Given the description of an element on the screen output the (x, y) to click on. 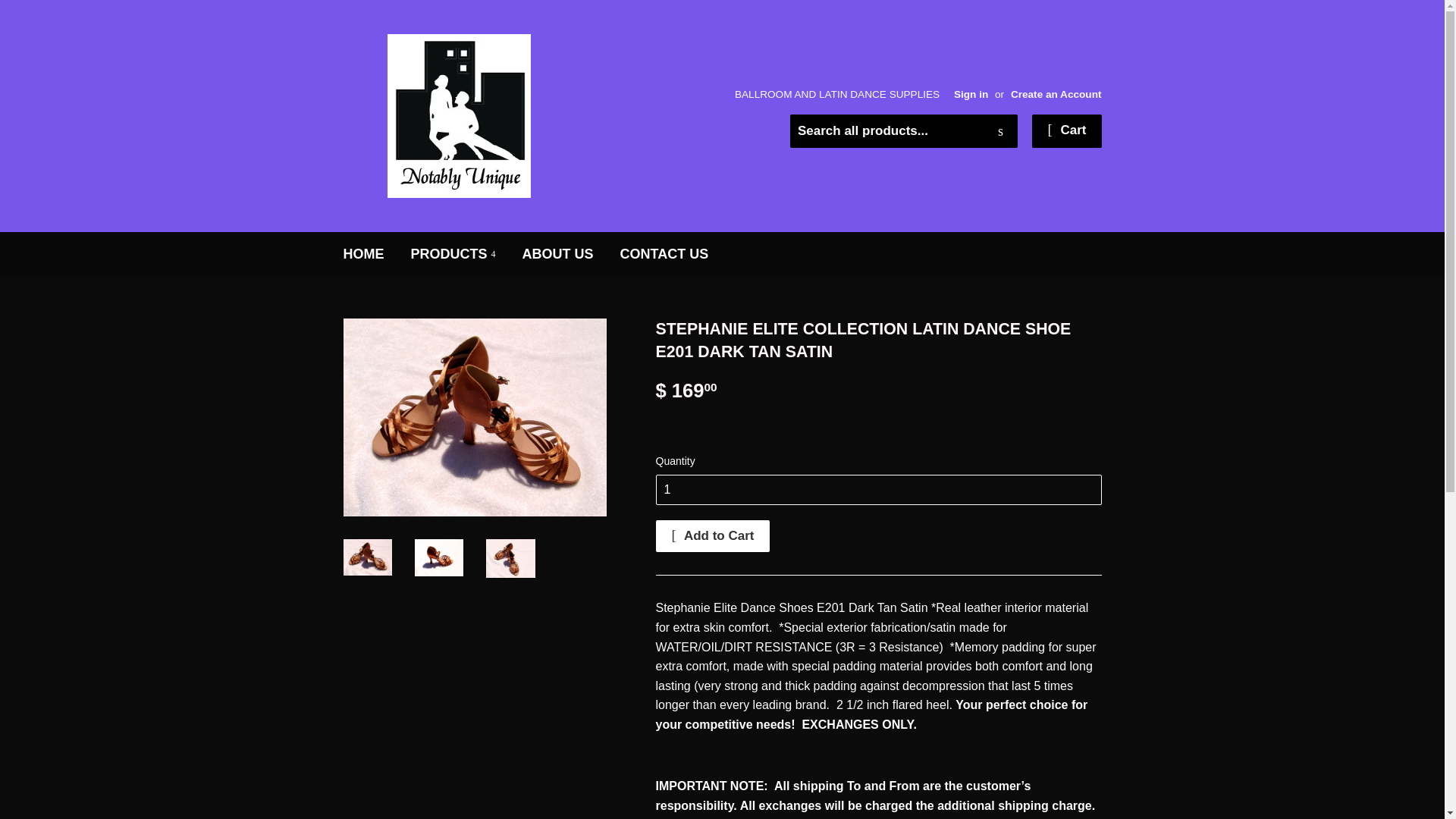
1 (877, 490)
ABOUT US (558, 253)
HOME (363, 253)
Sign in (970, 93)
Cart (1066, 131)
CONTACT US (664, 253)
Create an Account (1056, 93)
Add to Cart (712, 536)
PRODUCTS (452, 253)
Search (1000, 132)
